Given the description of an element on the screen output the (x, y) to click on. 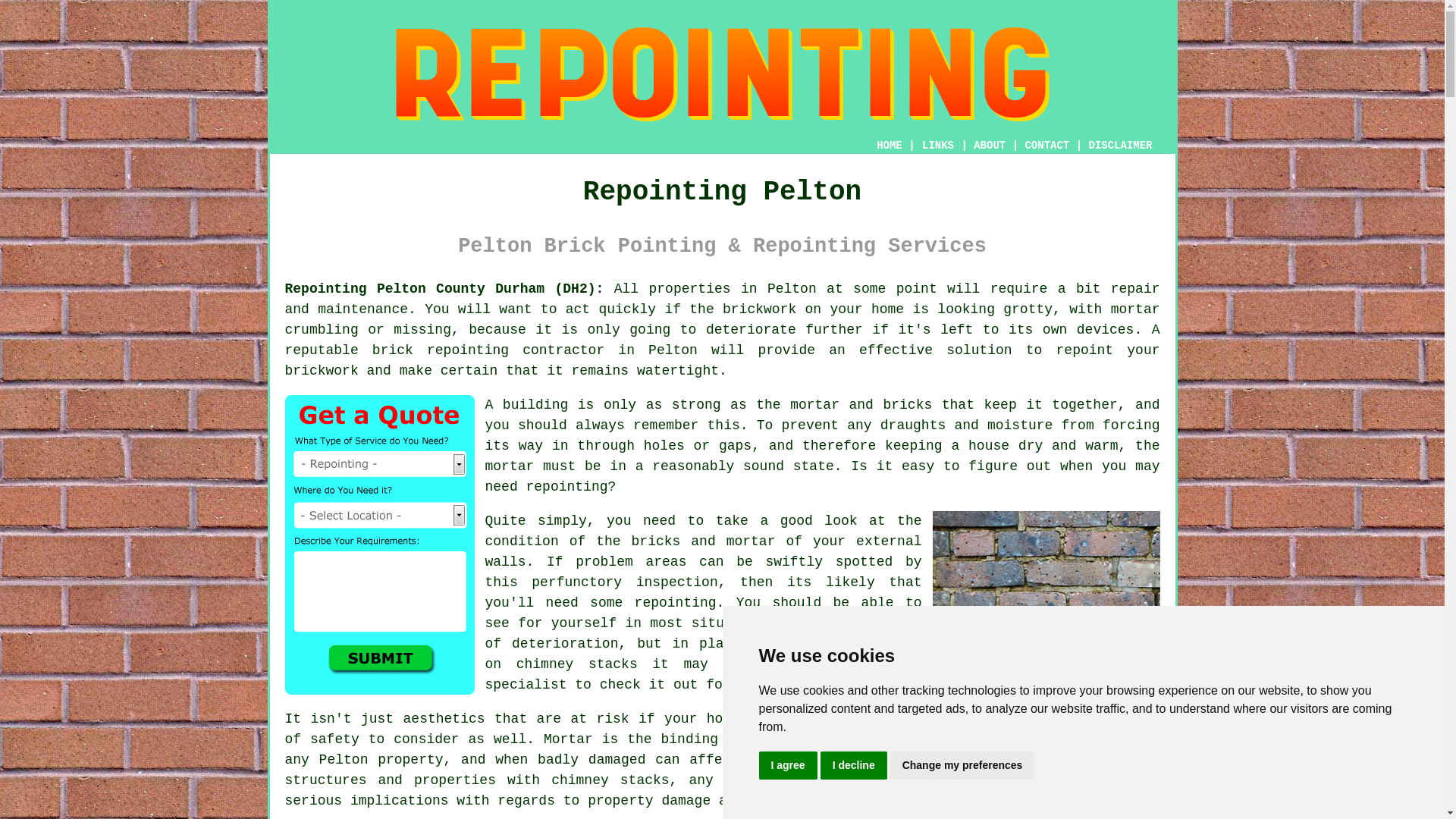
repointing (467, 350)
I decline (853, 765)
mortar (509, 466)
I agree (787, 765)
Repointing Pelton (722, 74)
Change my preferences (962, 765)
HOME (889, 145)
LINKS (938, 145)
